Given the description of an element on the screen output the (x, y) to click on. 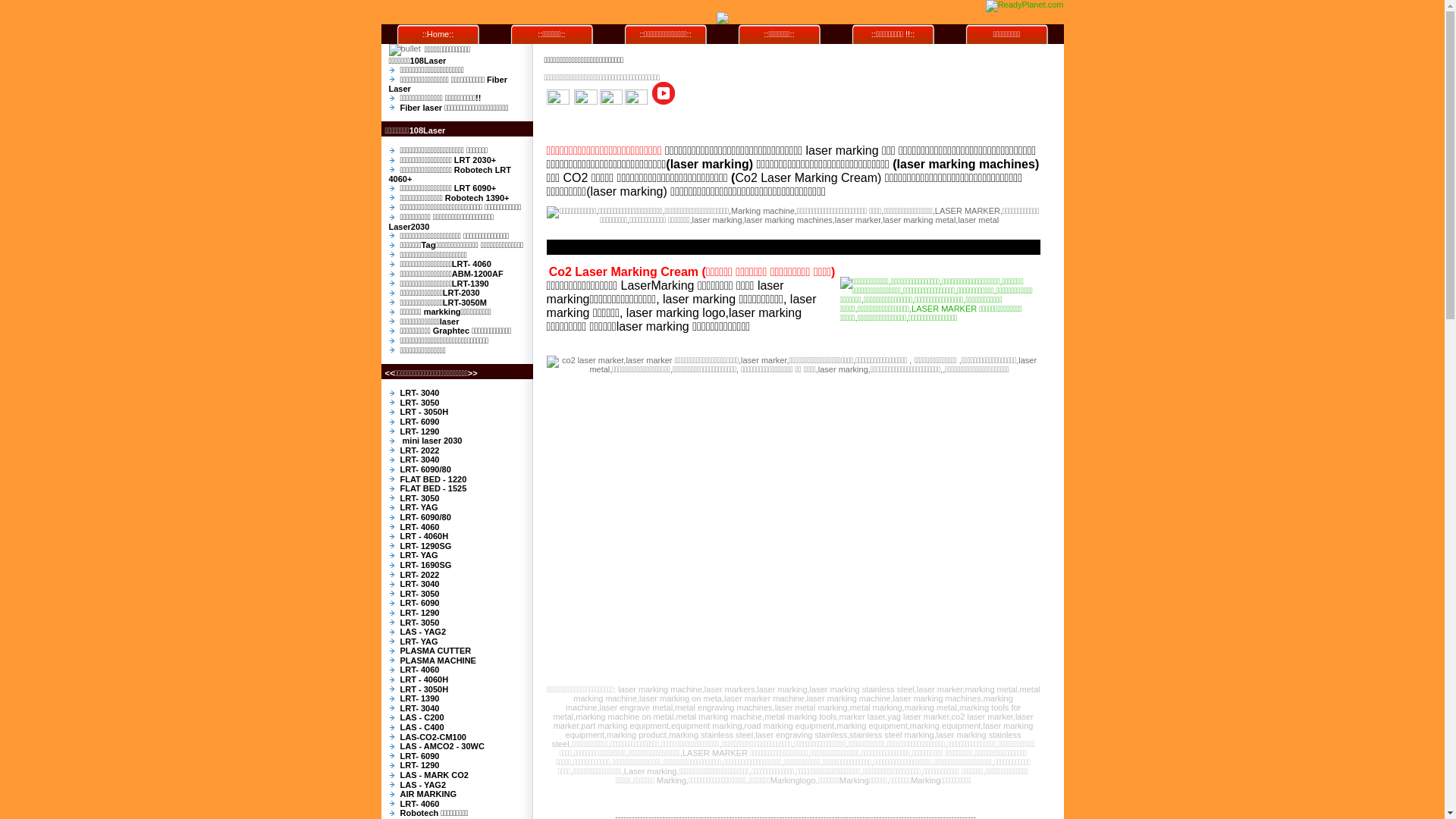
LRT- 3050 Element type: text (419, 402)
LRT- 3040 Element type: text (419, 392)
LRT- 3050 Element type: text (419, 593)
LAS-CO2-CM100 Element type: text (433, 736)
LRT- 3050 Element type: text (419, 497)
LRT- 3040 Element type: text (419, 707)
LAS - YAG2 Element type: text (423, 784)
LRT- 3050 Element type: text (419, 621)
LRT- 6090/80 Element type: text (425, 516)
mini laser 2030 Element type: text (431, 440)
FLAT BED - 1525 Element type: text (433, 487)
LRT- 6090 Element type: text (419, 602)
LRT- YAG Element type: text (419, 506)
LRT- 1290 Element type: text (419, 764)
LRT- 6090 Element type: text (419, 421)
PLASMA CUTTER Element type: text (435, 650)
LRT- 1390 Element type: text (419, 697)
LAS - C400 Element type: text (422, 726)
LRT - 4060H Element type: text (424, 679)
LAS - AMCO2 - 30WC Element type: text (442, 745)
LRT- 1290 Element type: text (419, 431)
AIR MARKING Element type: text (428, 793)
LAS - MARK CO2 Element type: text (434, 774)
LRT- 1290 Element type: text (419, 612)
LRT- 4060 Element type: text (419, 803)
LRT- 3040 Element type: text (419, 583)
FLAT BED - 1220 Element type: text (433, 478)
LRT - 3050H Element type: text (424, 688)
PLASMA MACHINE Element type: text (438, 660)
LRT- YAG Element type: text (419, 641)
LRT - 4060H Element type: text (424, 535)
LRT- 2022 Element type: text (419, 574)
LRT- 3040 Element type: text (419, 459)
LRT- 4060 Element type: text (419, 669)
LRT - 3050H Element type: text (424, 411)
LRT- 6090 Element type: text (419, 755)
LRT- 6090/80 Element type: text (425, 468)
LRT- 1690SG Element type: text (425, 564)
LRT- YAG Element type: text (419, 554)
LRT- 1290SG Element type: text (425, 545)
::Home:: Element type: text (437, 33)
LRT- 2022 Element type: text (419, 450)
LRT- 4060 Element type: text (419, 526)
LAS - YAG2 Element type: text (423, 631)
ReadyPlanet.com Element type: hover (1024, 6)
LAS - C200 Element type: text (422, 716)
